Given the description of an element on the screen output the (x, y) to click on. 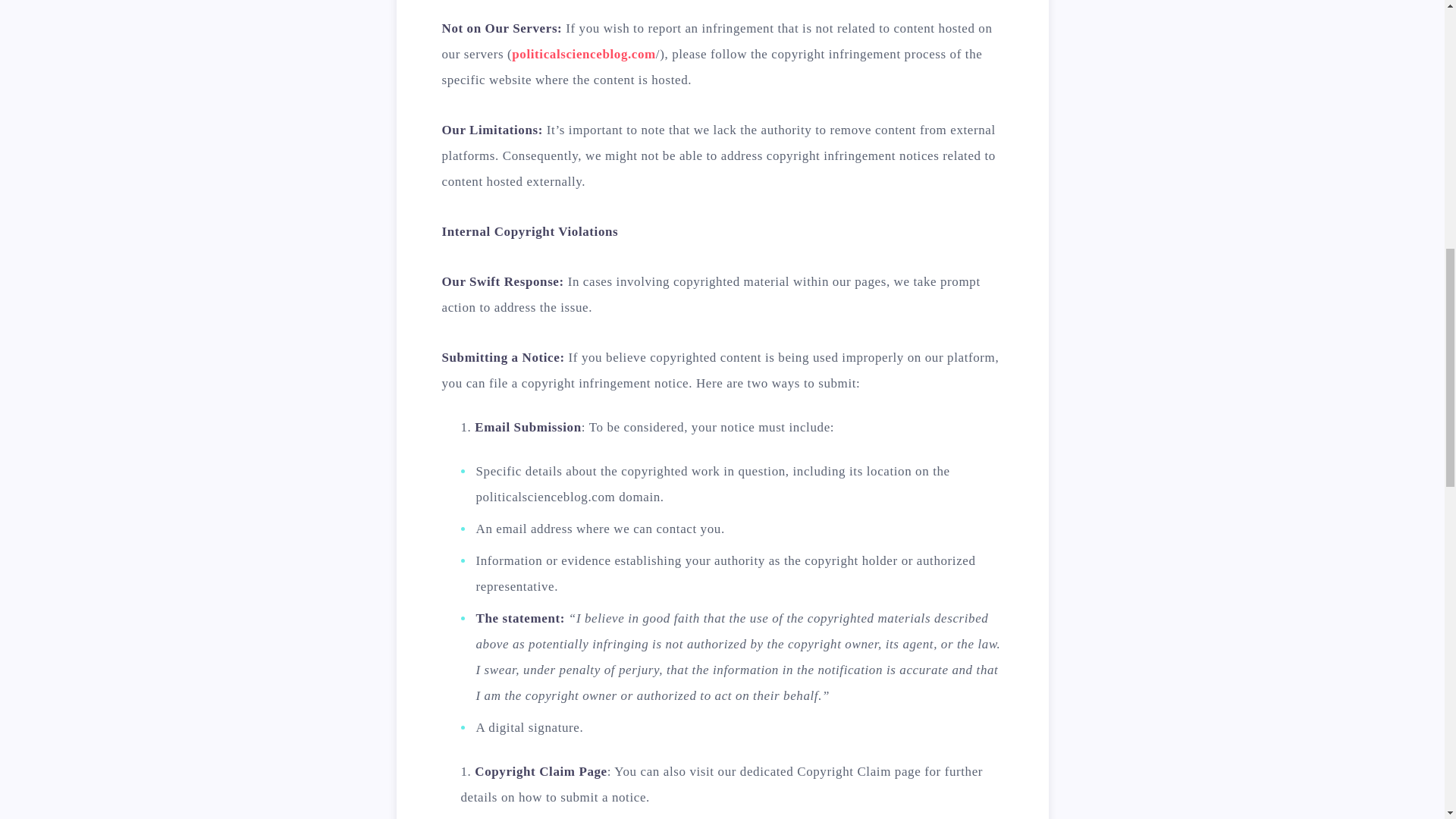
politicalscienceblog.com (584, 53)
